Given the description of an element on the screen output the (x, y) to click on. 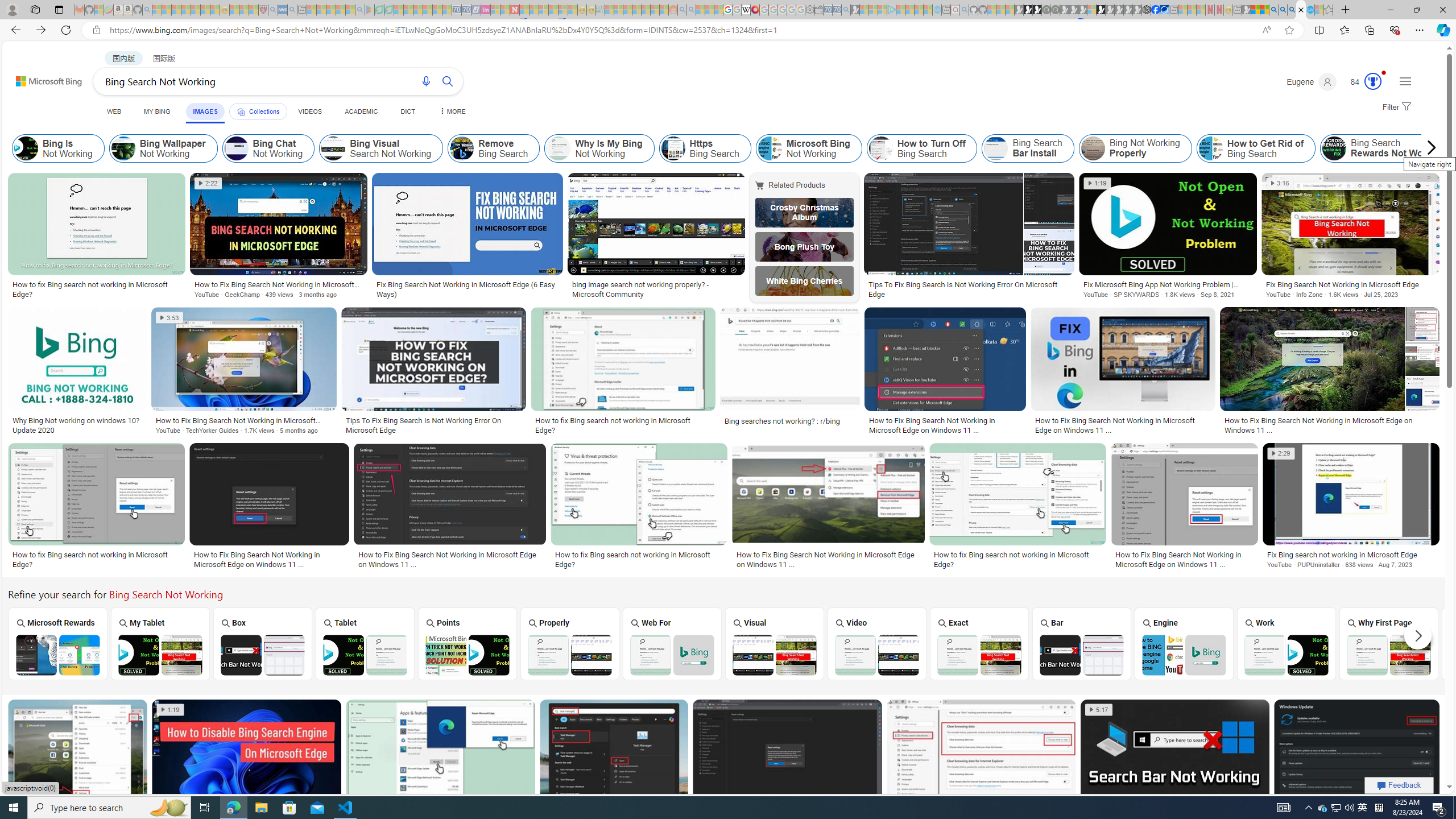
How to Get Rid of Bing Search (1256, 148)
How to Turn Off Bing Search (921, 148)
Bing Bong Plush Toy (804, 246)
Why First Page (1388, 643)
Bluey: Let's Play! - Apps on Google Play - Sleeping (369, 9)
Fix Bing Search Not Working In Microsoft Edge (1350, 284)
MORE (451, 111)
